Given the description of an element on the screen output the (x, y) to click on. 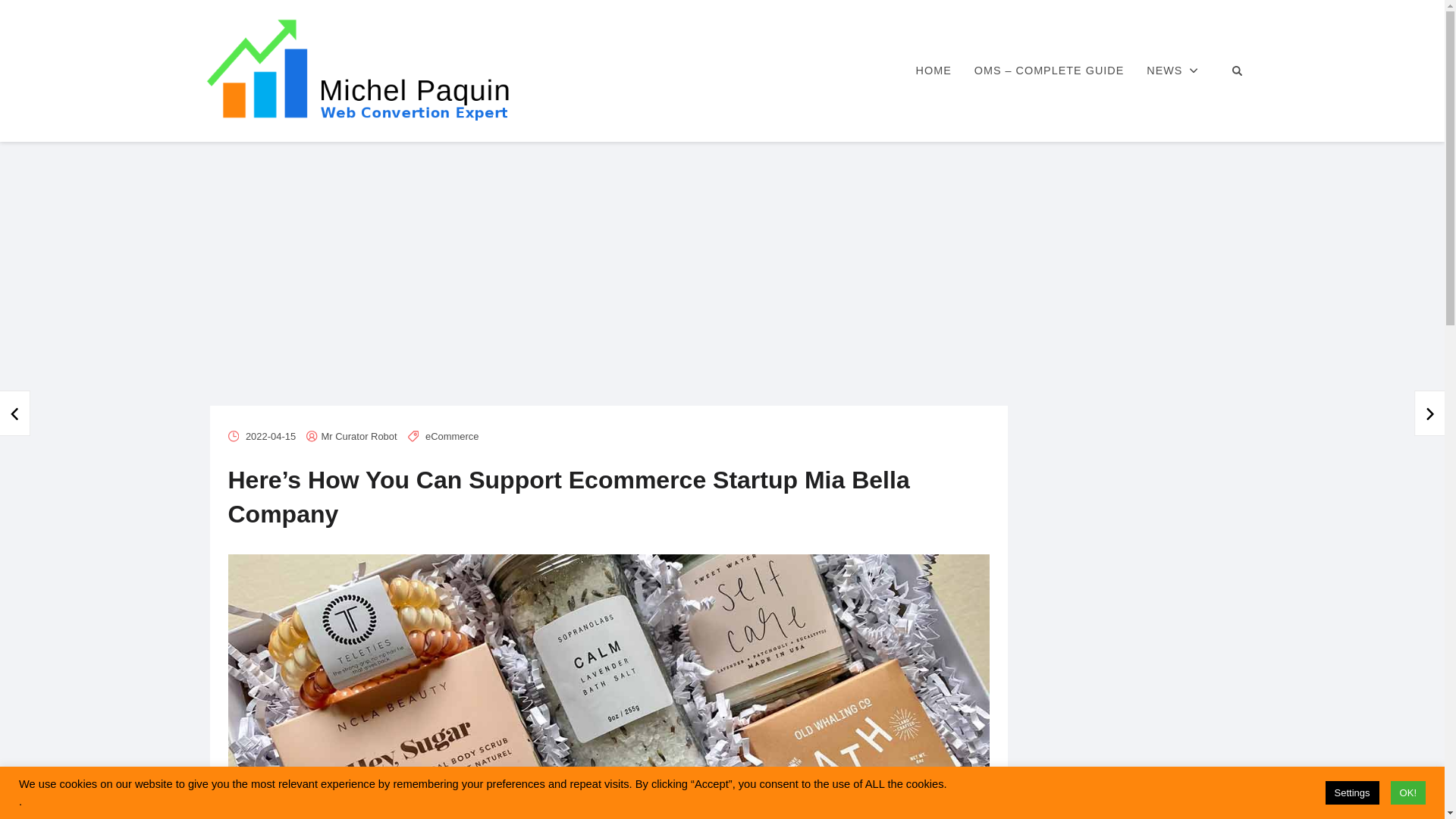
HOME (933, 70)
OK! (1407, 792)
Settings (1351, 792)
eCommerce (452, 436)
NEWS (1171, 70)
2022-04-15 (270, 436)
Mr Curator Robot (359, 436)
